Given the description of an element on the screen output the (x, y) to click on. 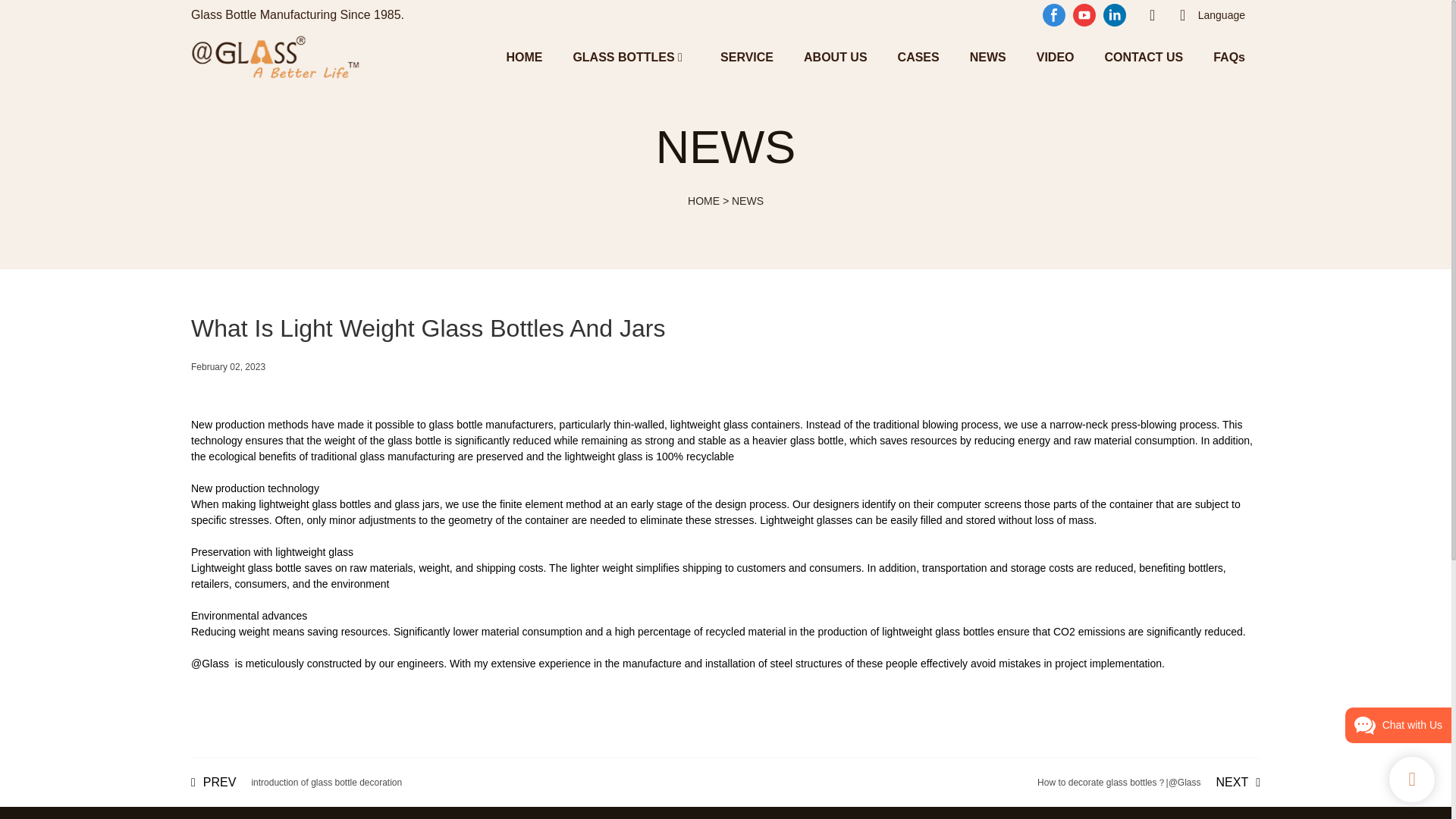
NEWS (987, 56)
introduction of glass bottle decoration (295, 782)
SERVICE (746, 56)
facebook (1053, 15)
HOME (523, 56)
linkedin (1114, 15)
VIDEO (1055, 56)
ABOUT US (835, 56)
CONTACT US (1142, 56)
FAQs (1228, 56)
